Given the description of an element on the screen output the (x, y) to click on. 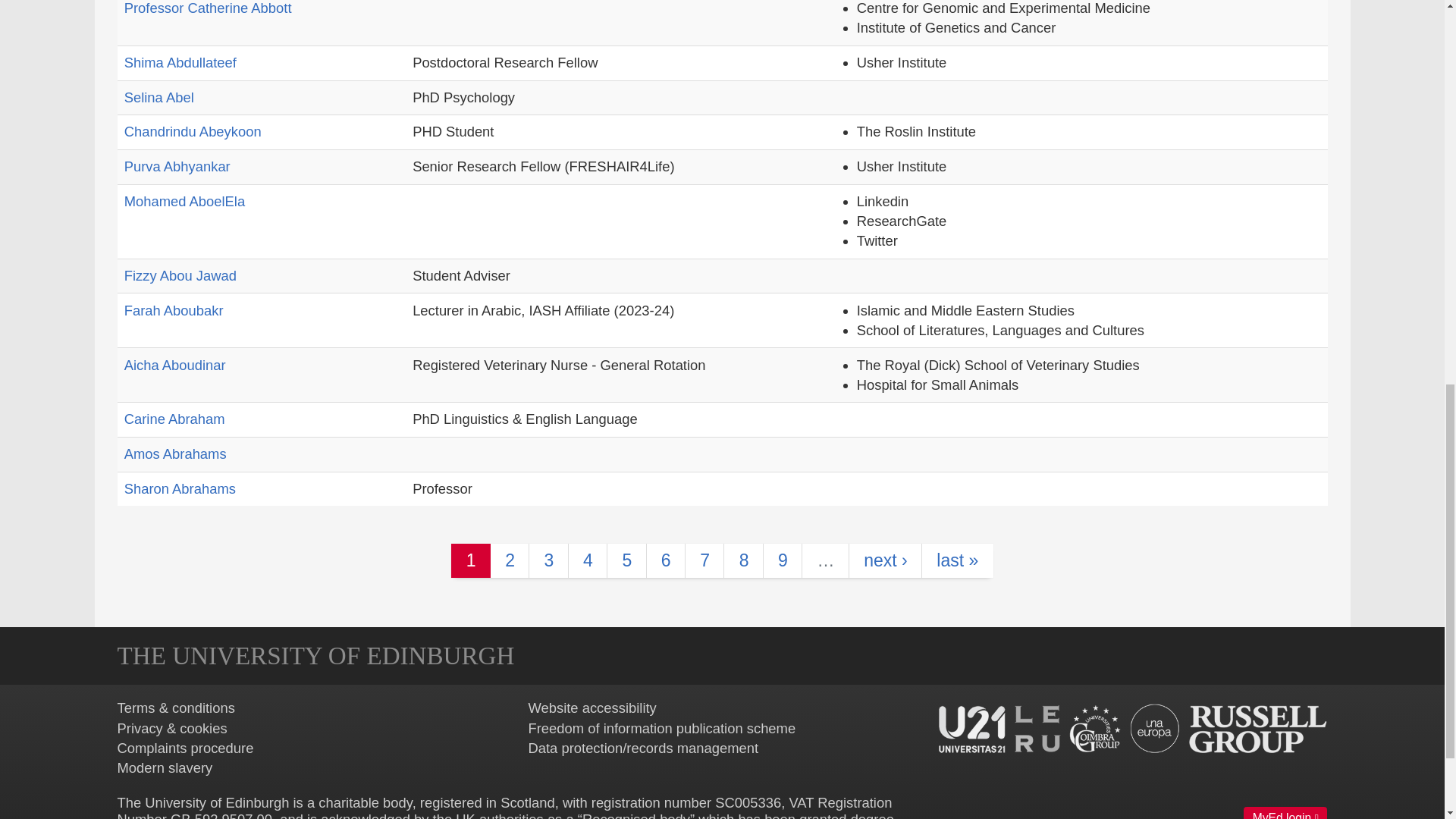
6 (665, 560)
Purva Abhyankar (176, 166)
Selina Abel (158, 97)
Go to page 4 (587, 560)
8 (742, 560)
2 (509, 560)
7 (703, 560)
Fizzy Abou Jawad (179, 275)
Go to next page (884, 560)
Go to page 2 (509, 560)
